Given the description of an element on the screen output the (x, y) to click on. 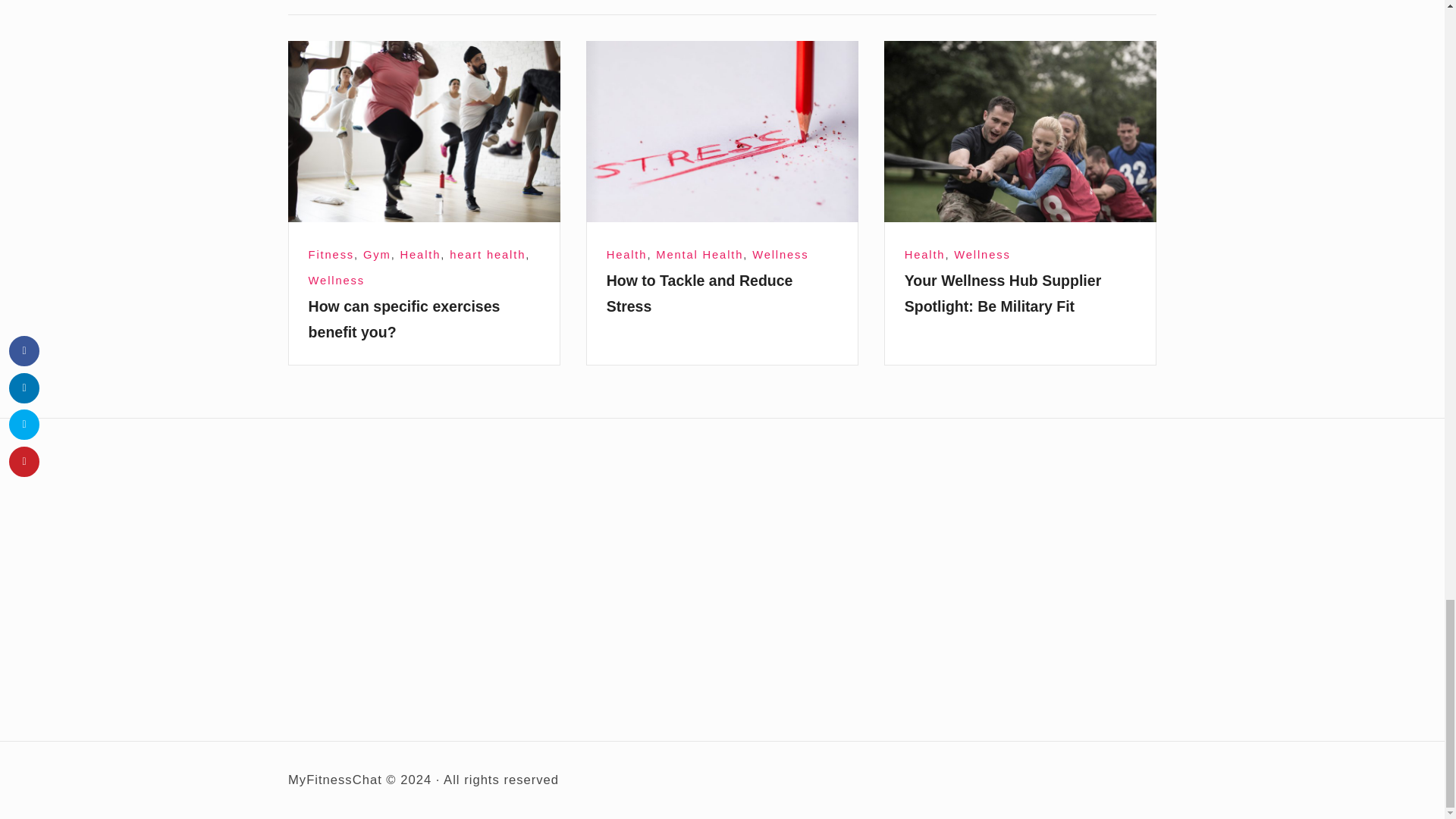
Gym (376, 254)
How can specific exercises benefit you? (424, 130)
Wellness (336, 280)
Health (420, 254)
Fitness (330, 254)
heart health (487, 254)
